Given the description of an element on the screen output the (x, y) to click on. 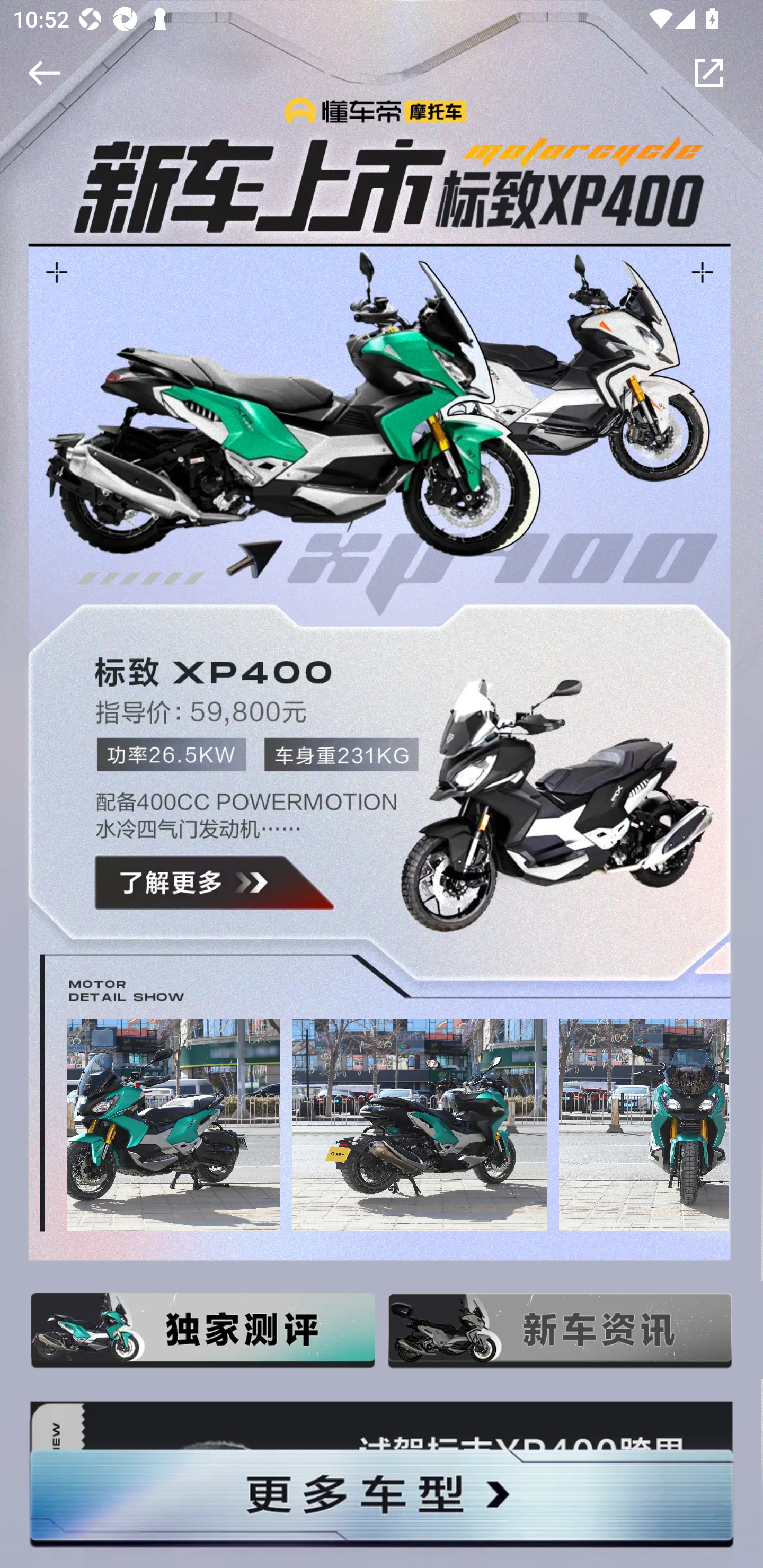
 (41, 72)
